Given the description of an element on the screen output the (x, y) to click on. 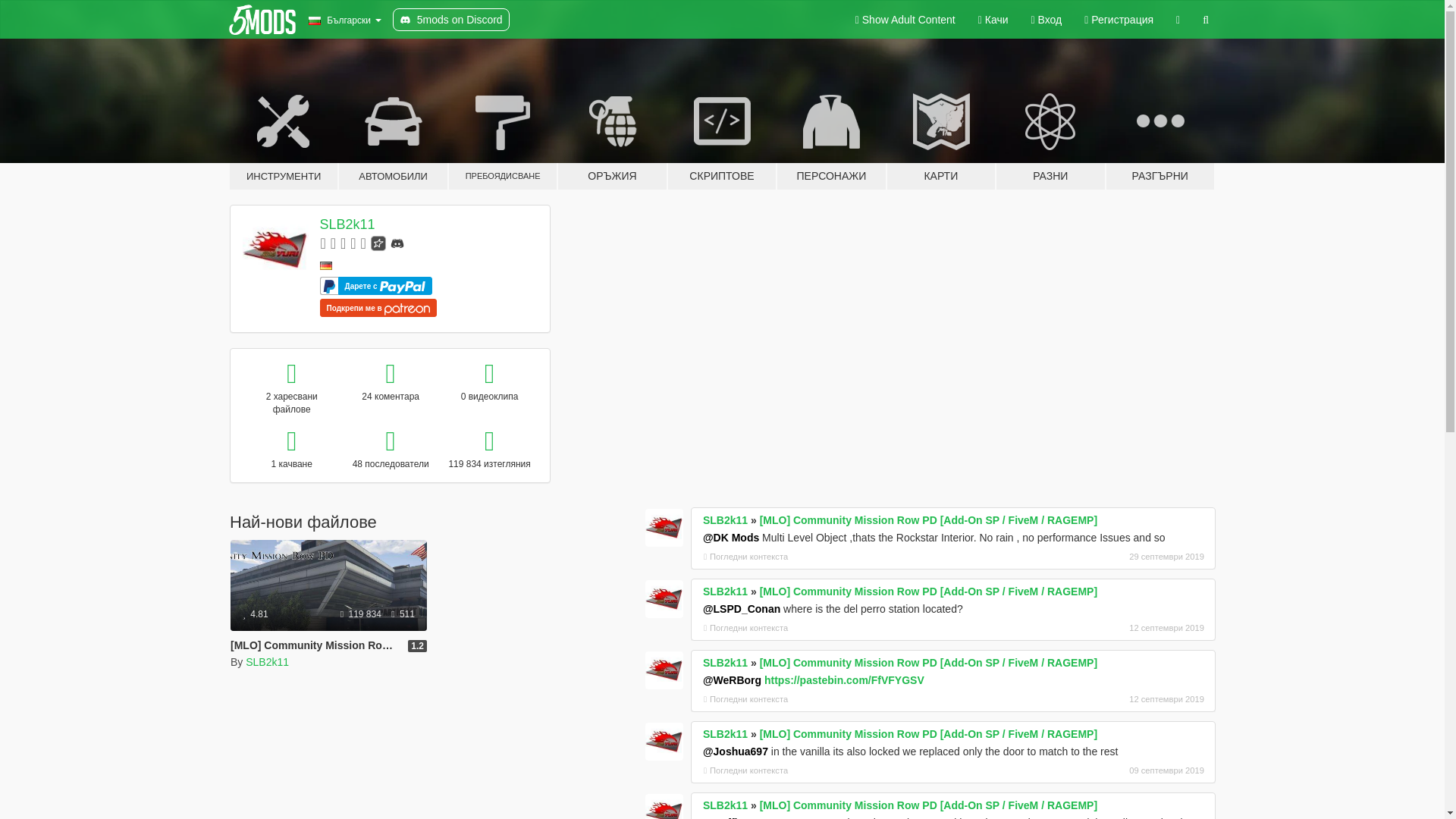
Rockstar Games Social Club (378, 243)
SLB2k11 (267, 662)
5mods on Discord (451, 19)
4.81 star rating (255, 614)
1.2 (416, 645)
Show Adult Content (905, 19)
Light mode (905, 19)
Discord Server (397, 243)
